Given the description of an element on the screen output the (x, y) to click on. 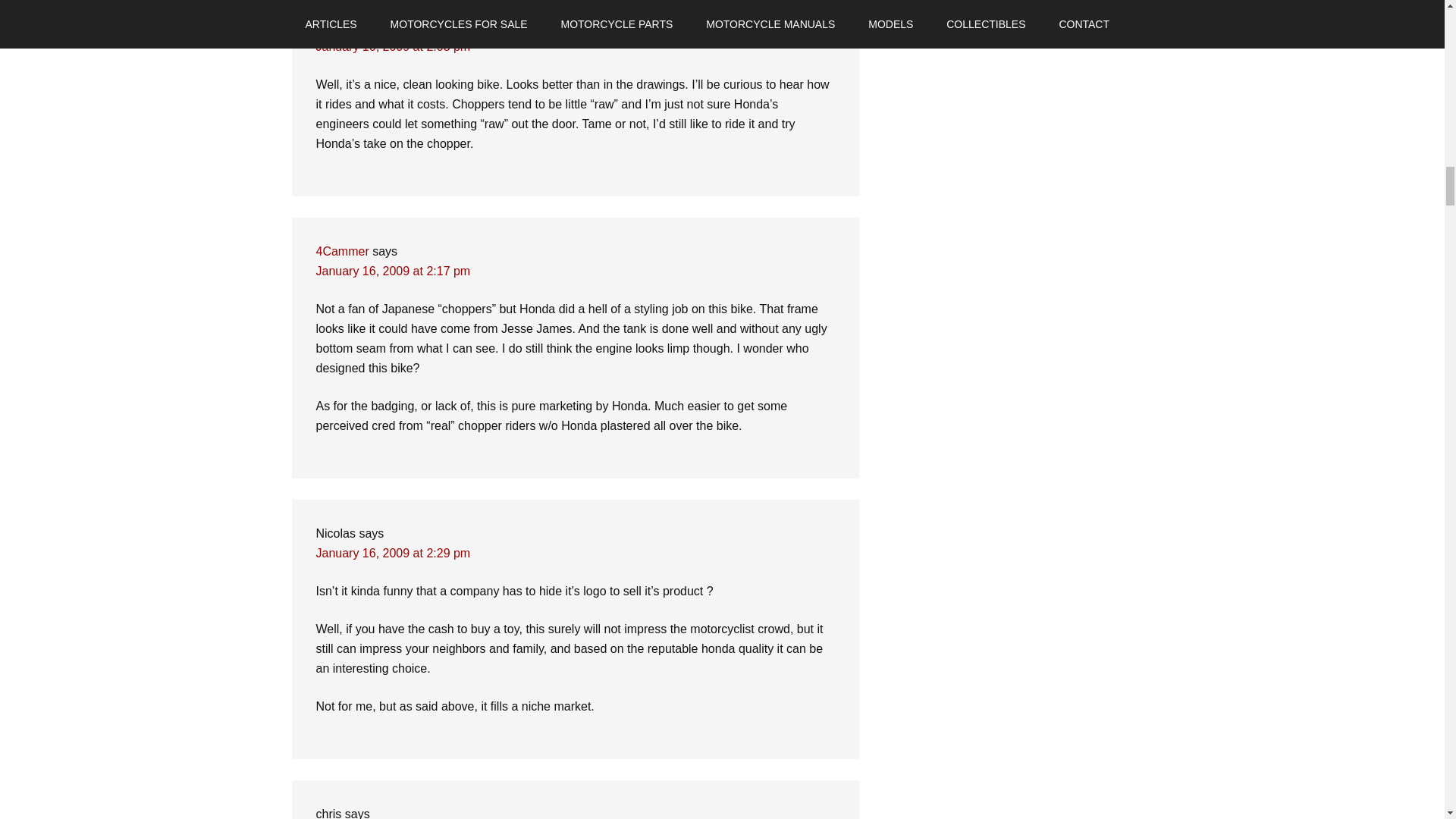
January 16, 2009 at 2:29 pm (392, 553)
January 16, 2009 at 2:03 pm (392, 46)
4Cammer (341, 250)
January 16, 2009 at 2:17 pm (392, 270)
